Given the description of an element on the screen output the (x, y) to click on. 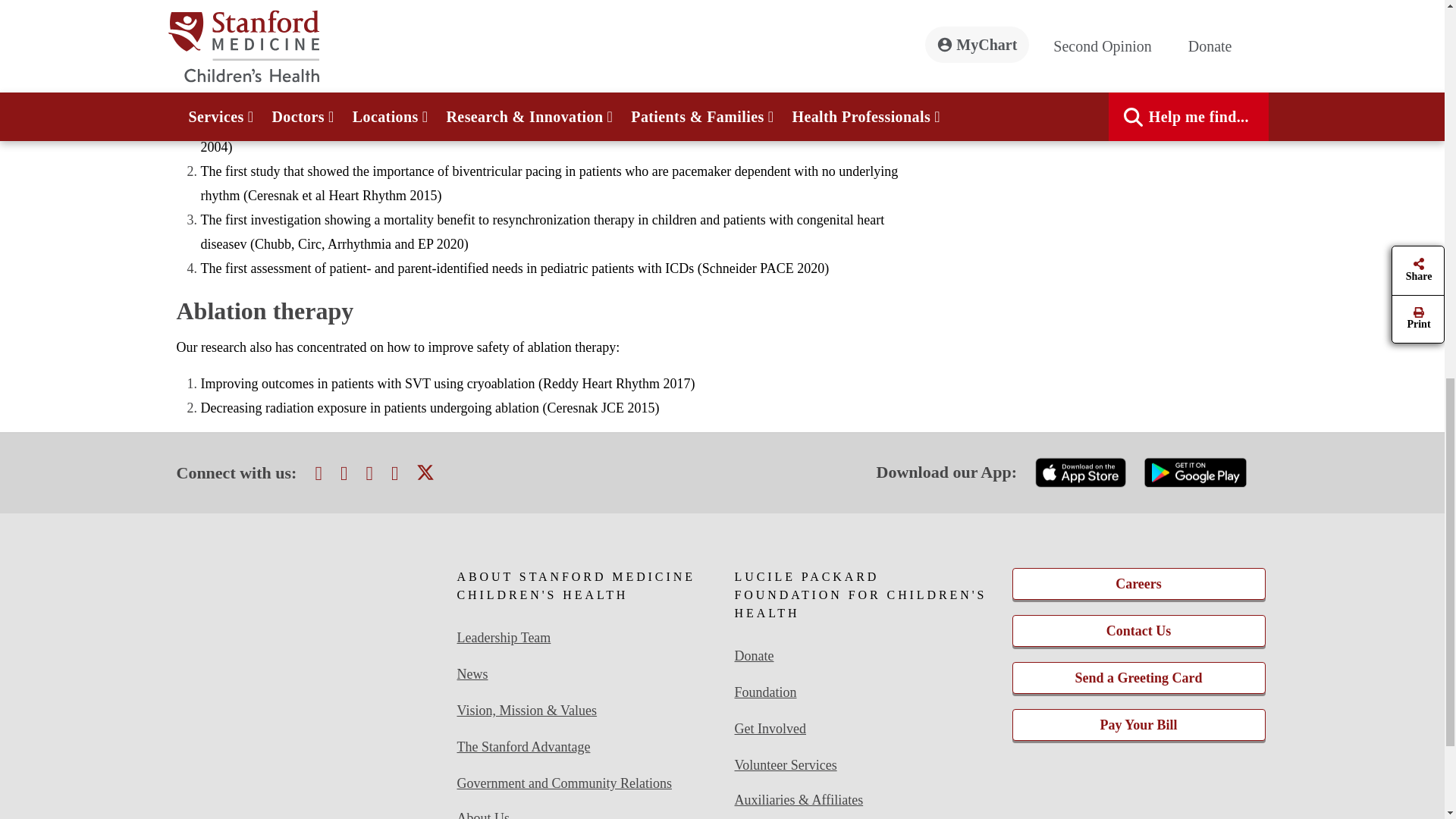
Magnet (305, 605)
U.S. News Best Hospital (305, 701)
